Given the description of an element on the screen output the (x, y) to click on. 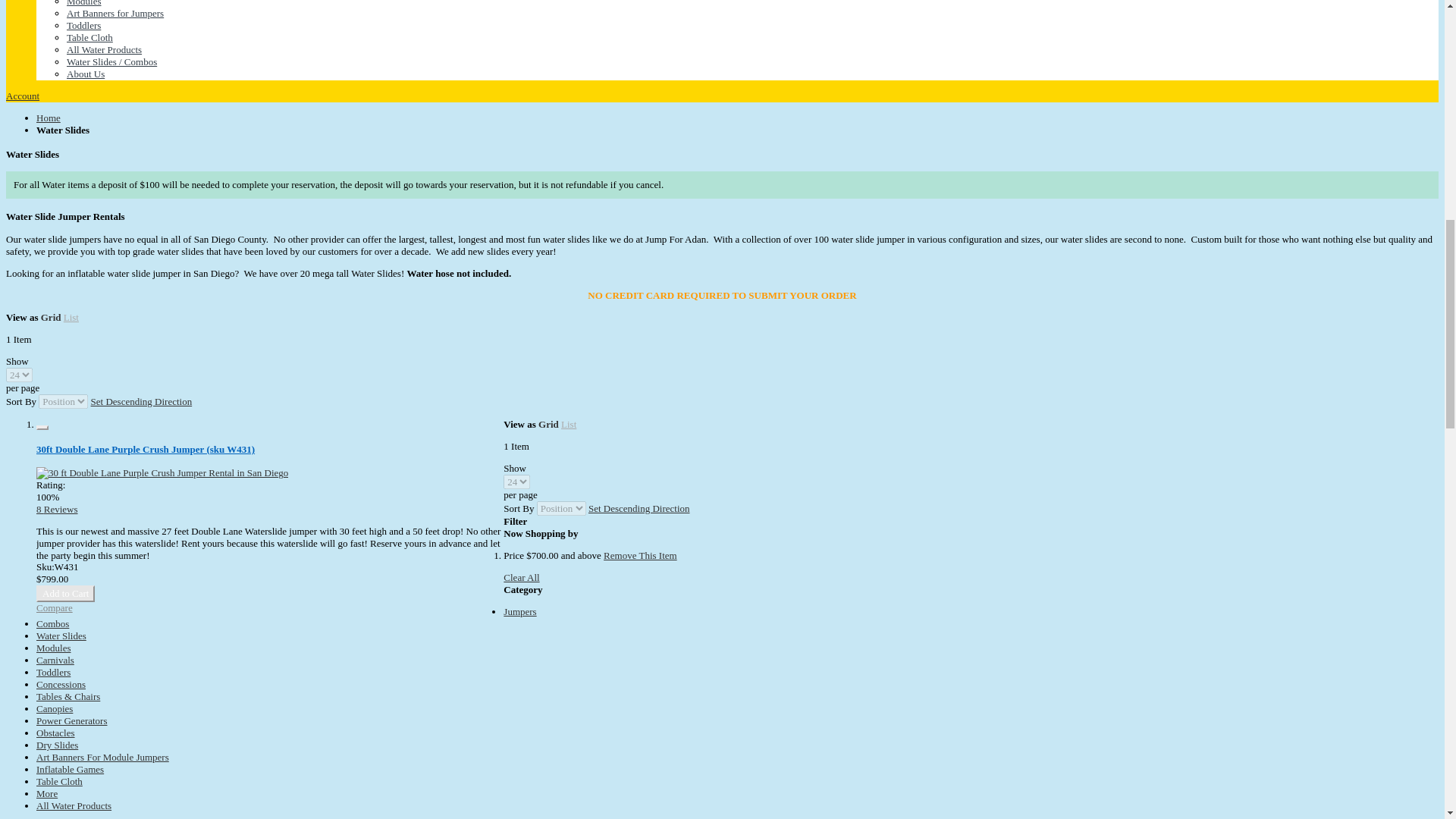
Grid (50, 317)
Set Descending Direction (141, 401)
List (568, 423)
List (71, 317)
Add to Cart (65, 593)
Set Descending Direction (639, 508)
Go to Home Page (48, 117)
Add to Compare (54, 607)
Grid (548, 423)
Quick View (42, 427)
